Given the description of an element on the screen output the (x, y) to click on. 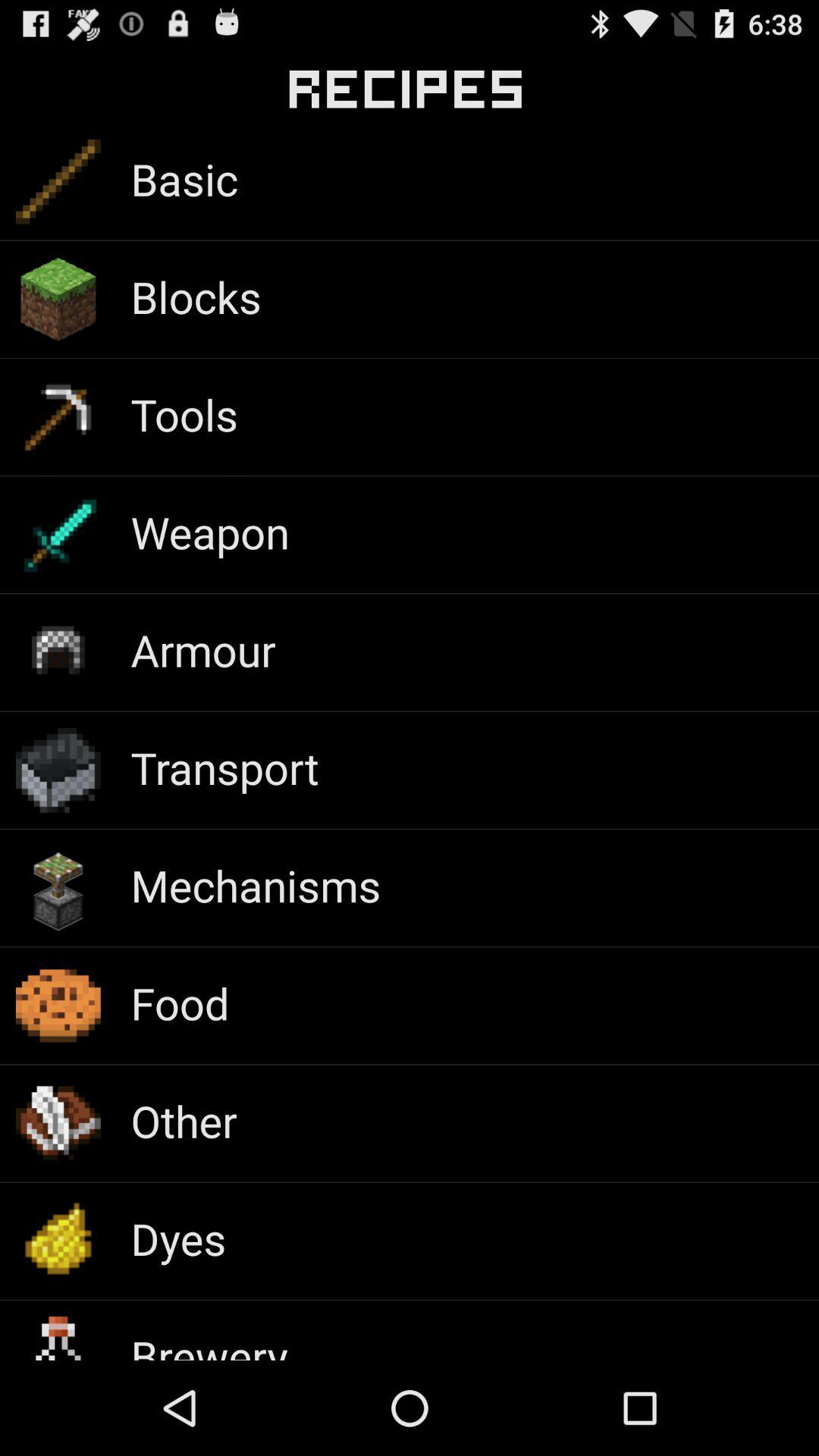
click icon above the other app (179, 1002)
